Given the description of an element on the screen output the (x, y) to click on. 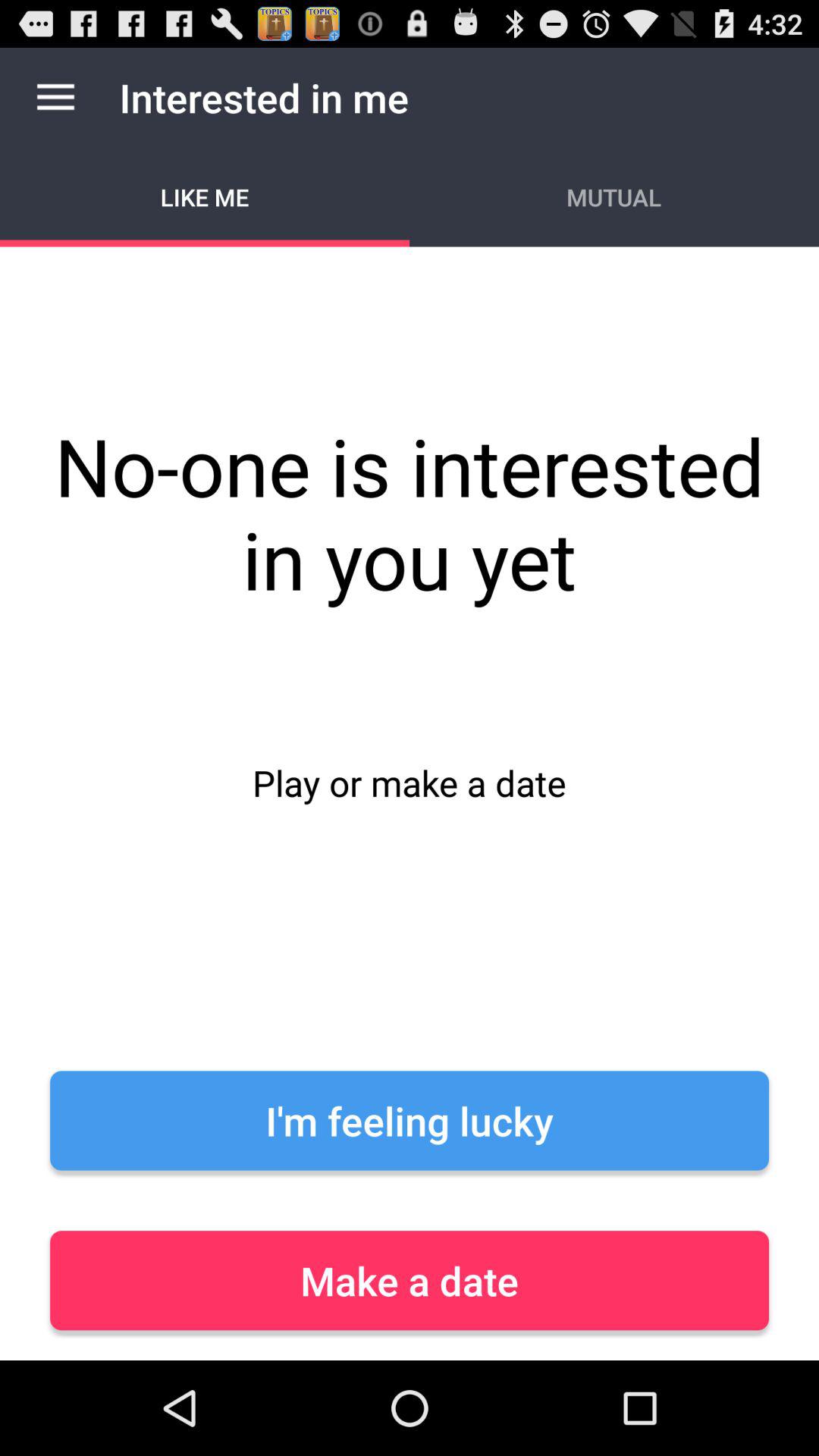
tap the icon below play or make item (409, 1120)
